Given the description of an element on the screen output the (x, y) to click on. 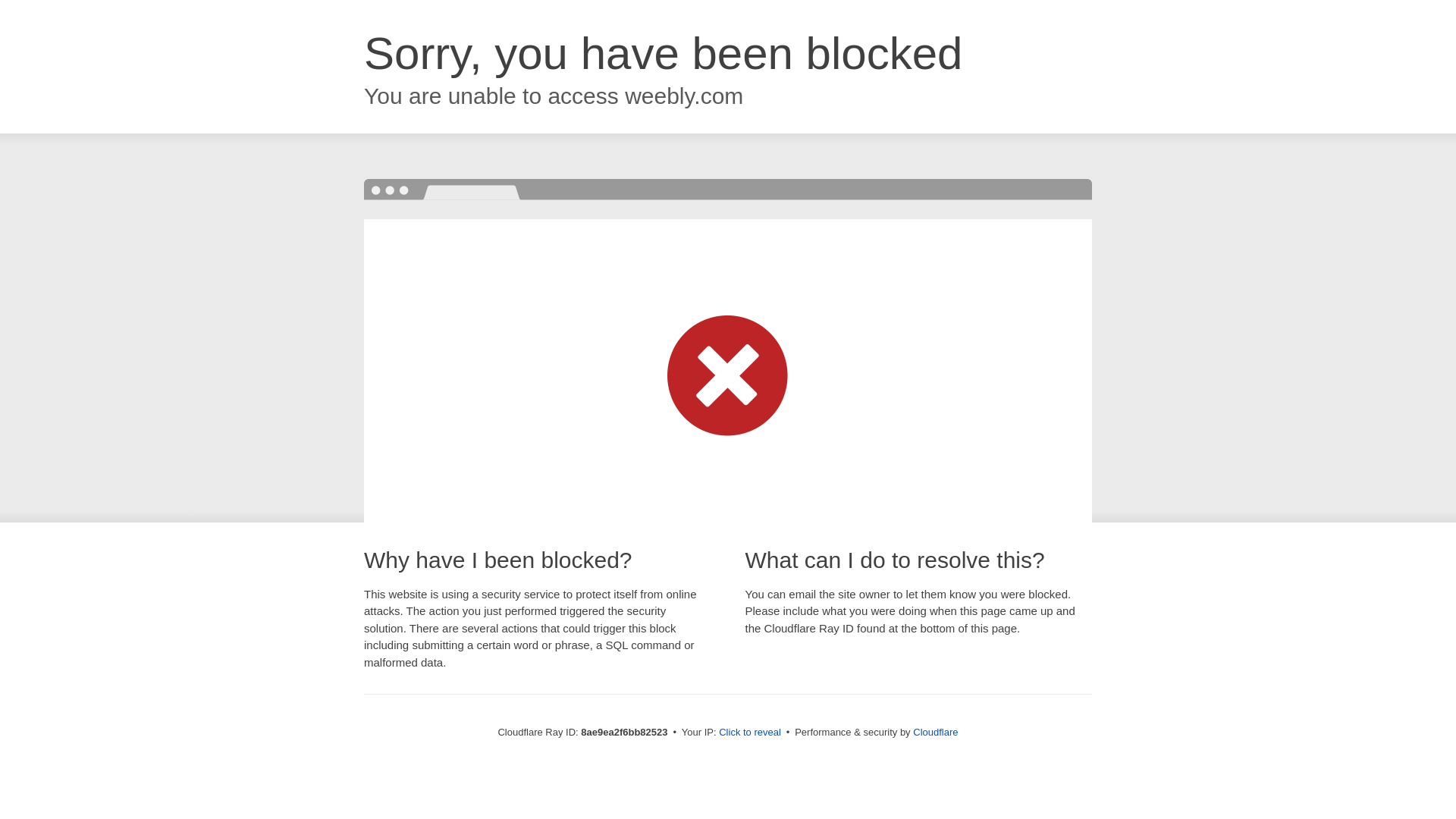
Cloudflare (935, 731)
Click to reveal (749, 732)
